Given the description of an element on the screen output the (x, y) to click on. 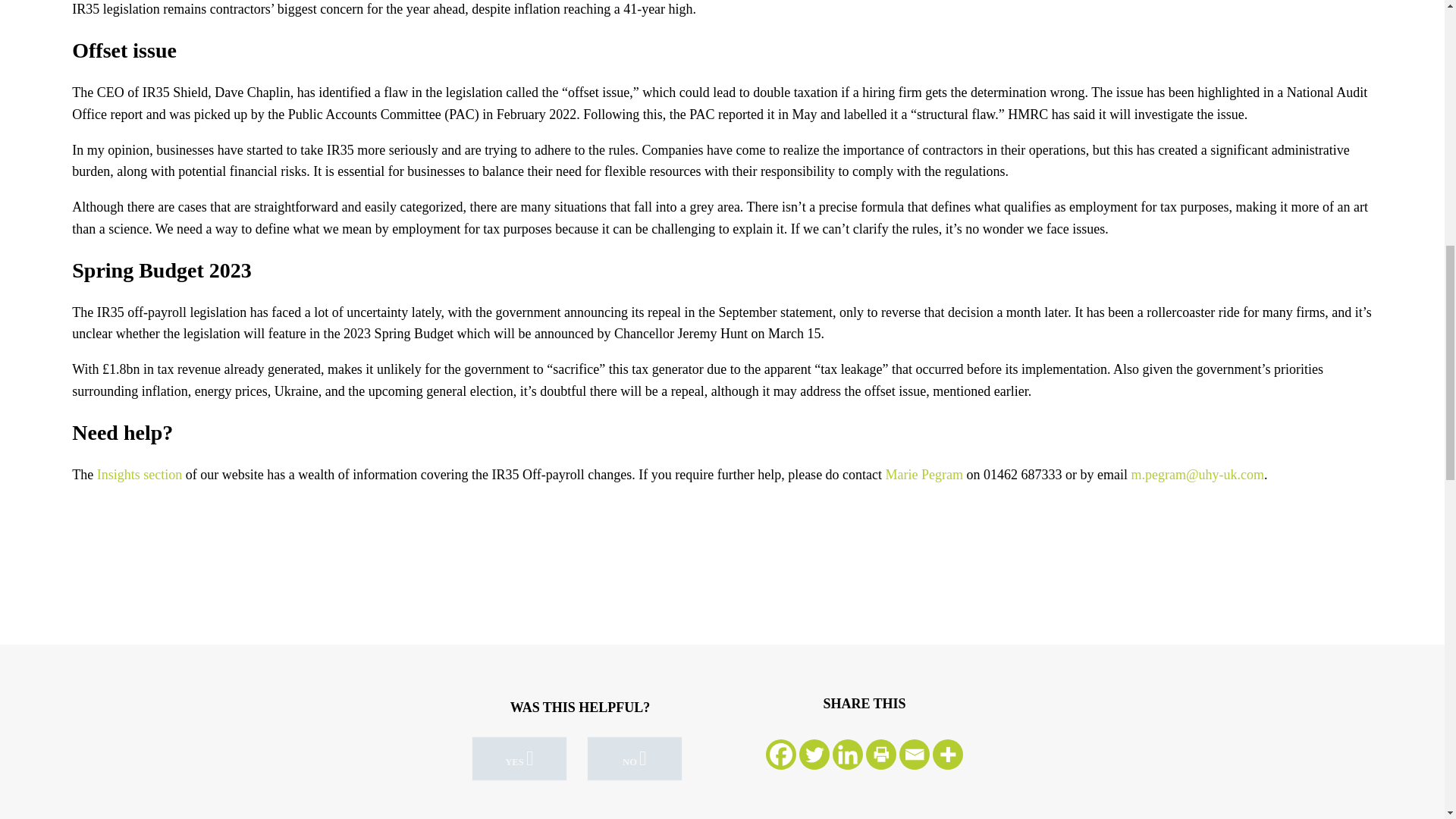
Print (881, 754)
Linkedin (847, 754)
Facebook (780, 754)
Twitter (814, 754)
More (947, 754)
Email (914, 754)
